Given the description of an element on the screen output the (x, y) to click on. 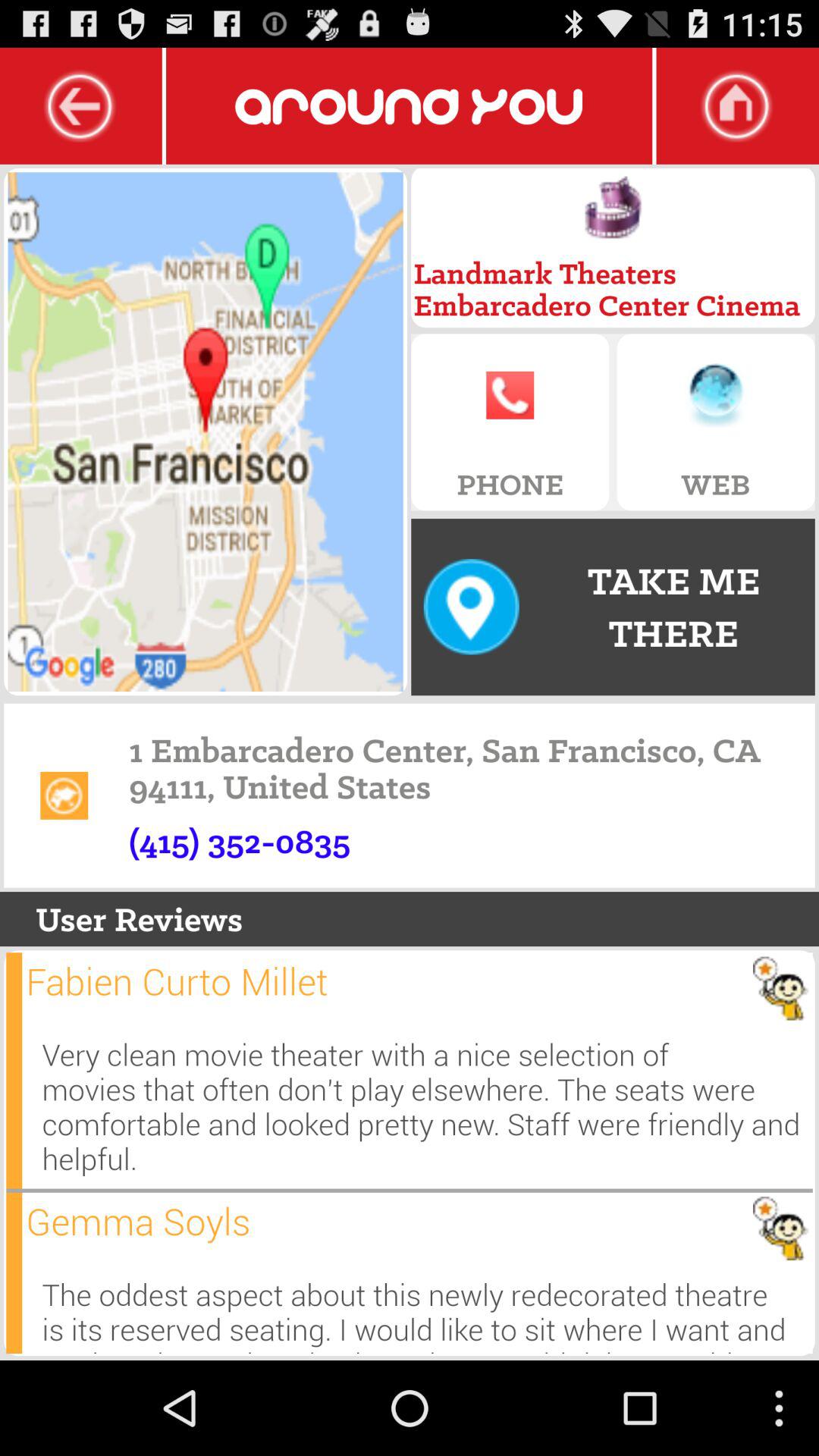
turn off the (415) 352-0835 item (239, 840)
